Given the description of an element on the screen output the (x, y) to click on. 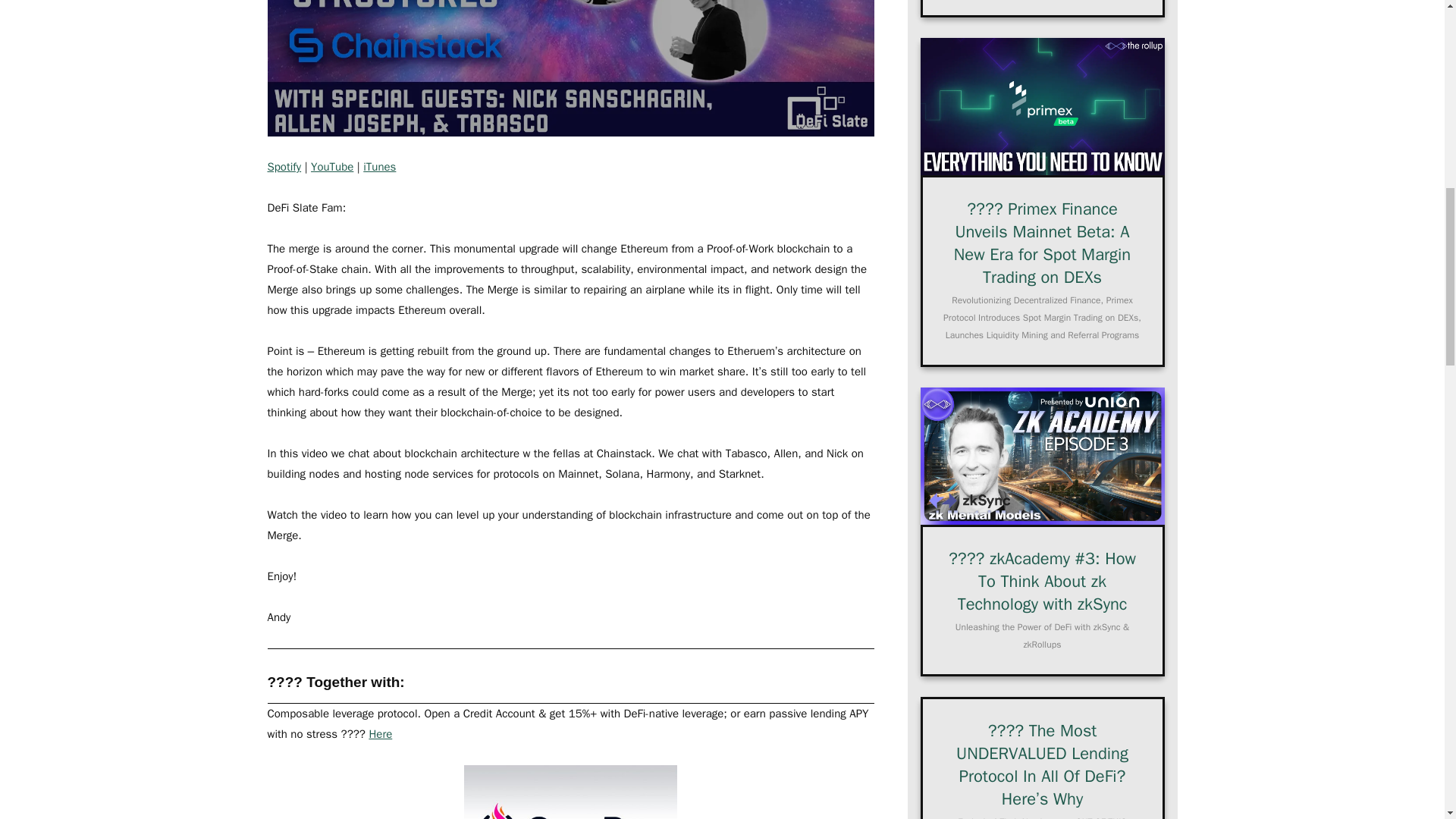
Spotify (283, 166)
iTunes (379, 166)
YouTube (332, 166)
Here (379, 734)
